Given the description of an element on the screen output the (x, y) to click on. 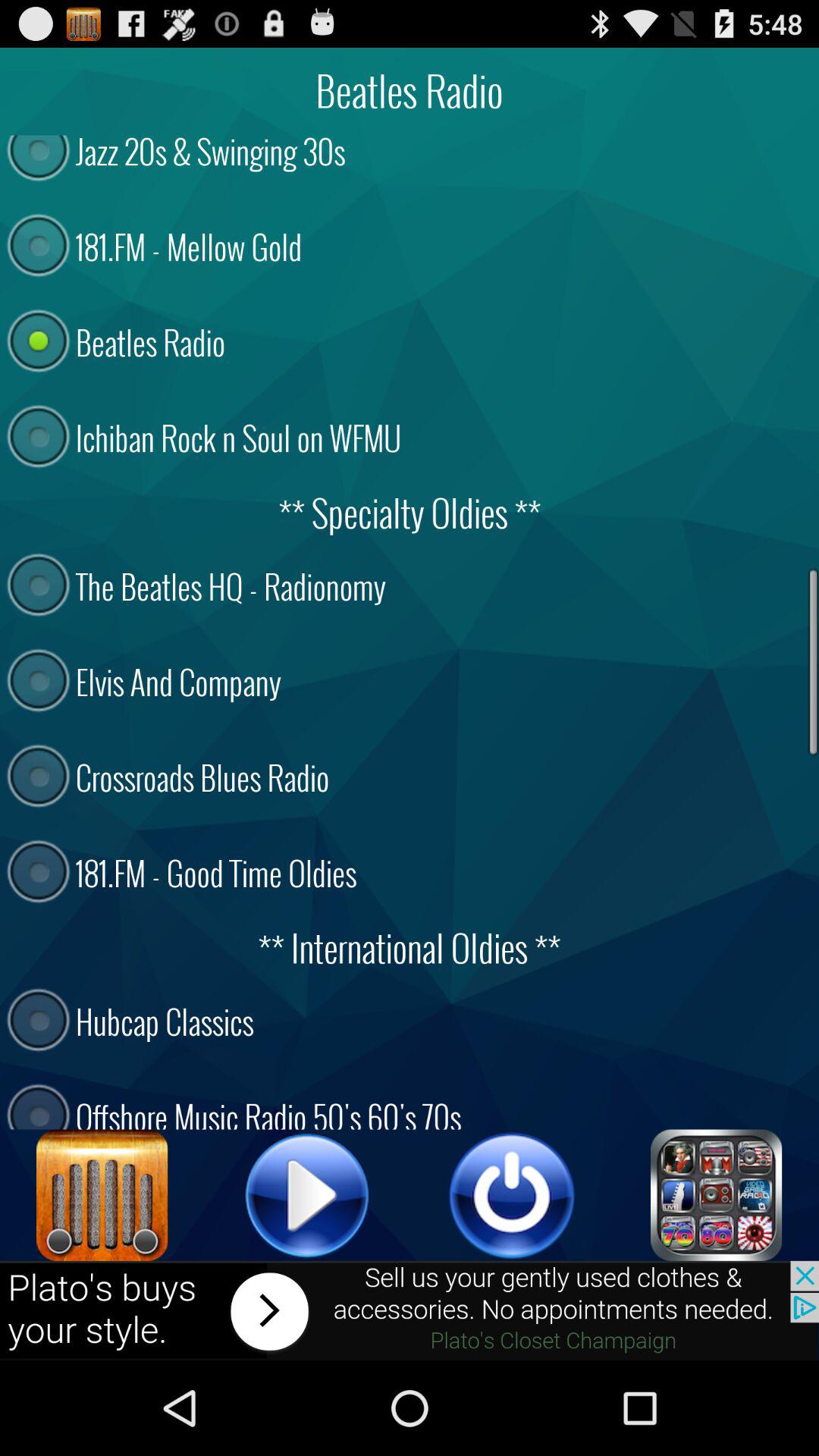
select advertisement (409, 1310)
